Given the description of an element on the screen output the (x, y) to click on. 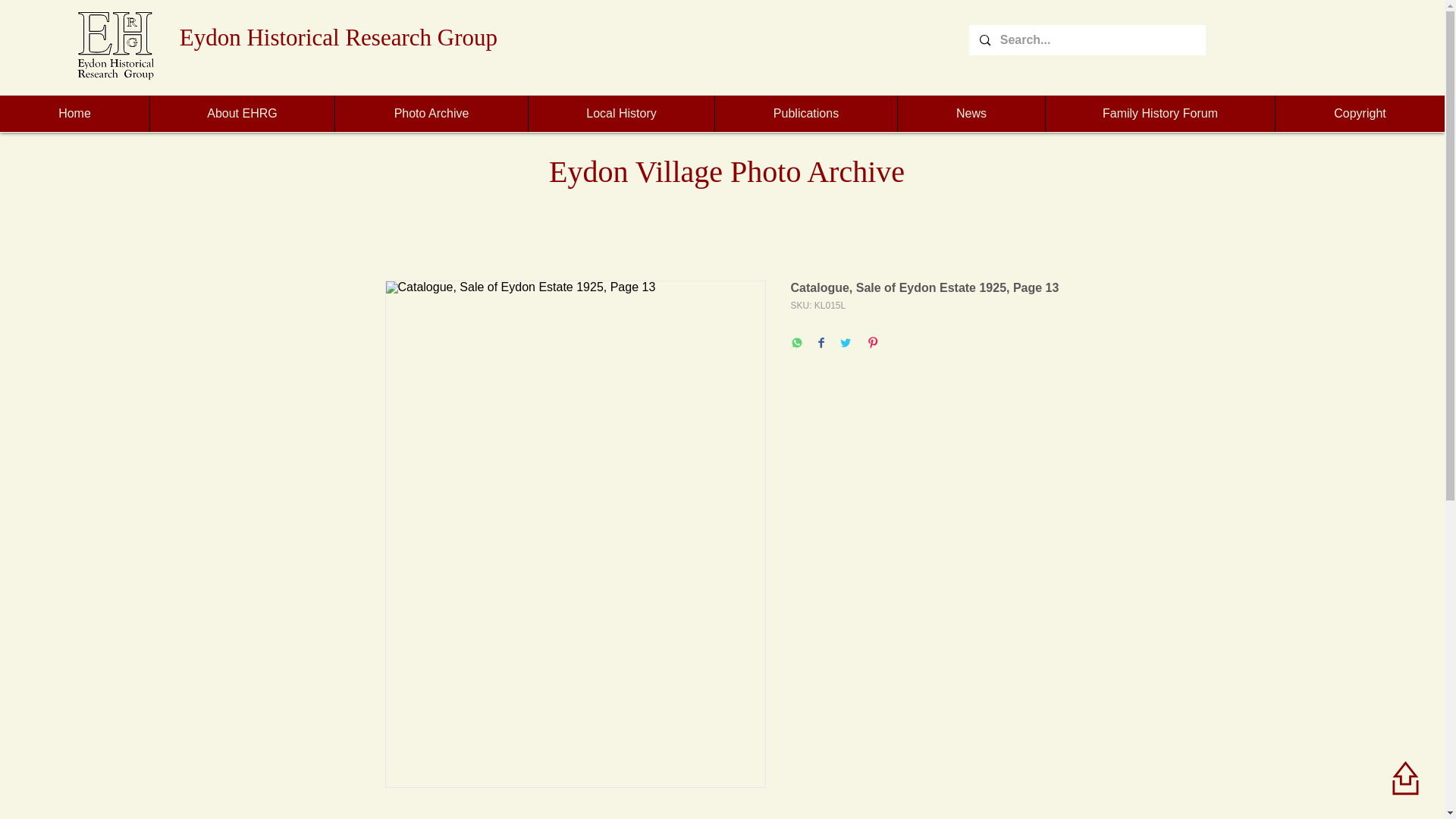
Family History Forum (1160, 113)
Local History (620, 113)
About EHRG (241, 113)
Publications (805, 113)
Photo Archive (430, 113)
Eydon Historical Research Group (338, 37)
Home (74, 113)
News (970, 113)
